Given the description of an element on the screen output the (x, y) to click on. 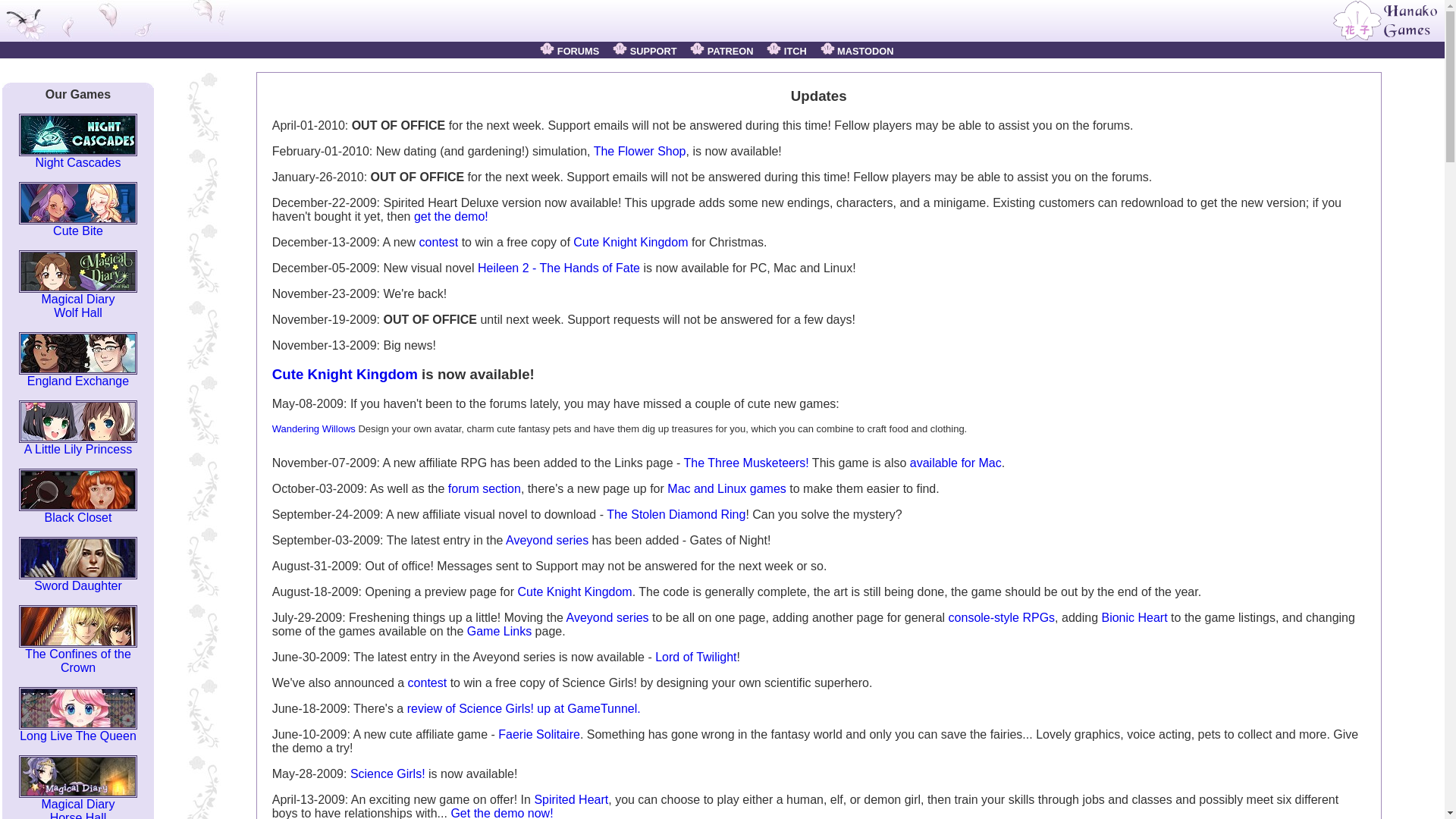
 PATREON (721, 50)
The Three Musketeers! (746, 462)
Cute Knight Kingdom (630, 241)
A Little Lily Princess (77, 443)
 FORUMS (569, 50)
Aveyond series (546, 540)
The Flower Shop (639, 151)
console-style RPGs (77, 300)
Bionic Heart (1002, 617)
England Exchange (1133, 617)
contest (77, 375)
forum section (426, 682)
 MASTODON (484, 488)
Mac and Linux games (857, 50)
